Given the description of an element on the screen output the (x, y) to click on. 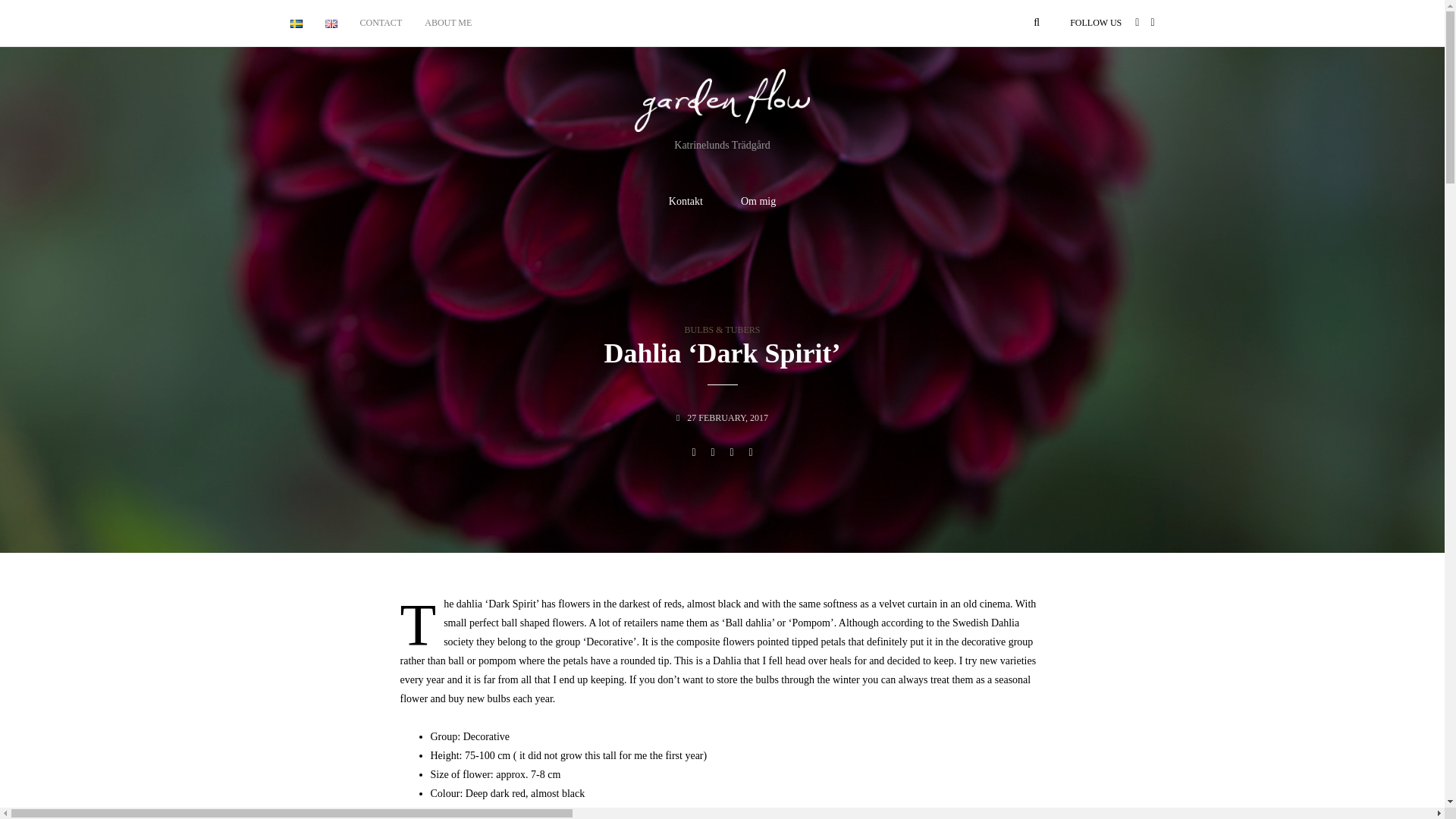
Kontakt (685, 201)
Pin this (750, 452)
CONTACT (381, 22)
ABOUT ME (448, 22)
Om mig (757, 201)
English (330, 23)
Tweet this (712, 452)
Share this (693, 452)
Svenska (295, 23)
Share with Google Plus (731, 452)
